Given the description of an element on the screen output the (x, y) to click on. 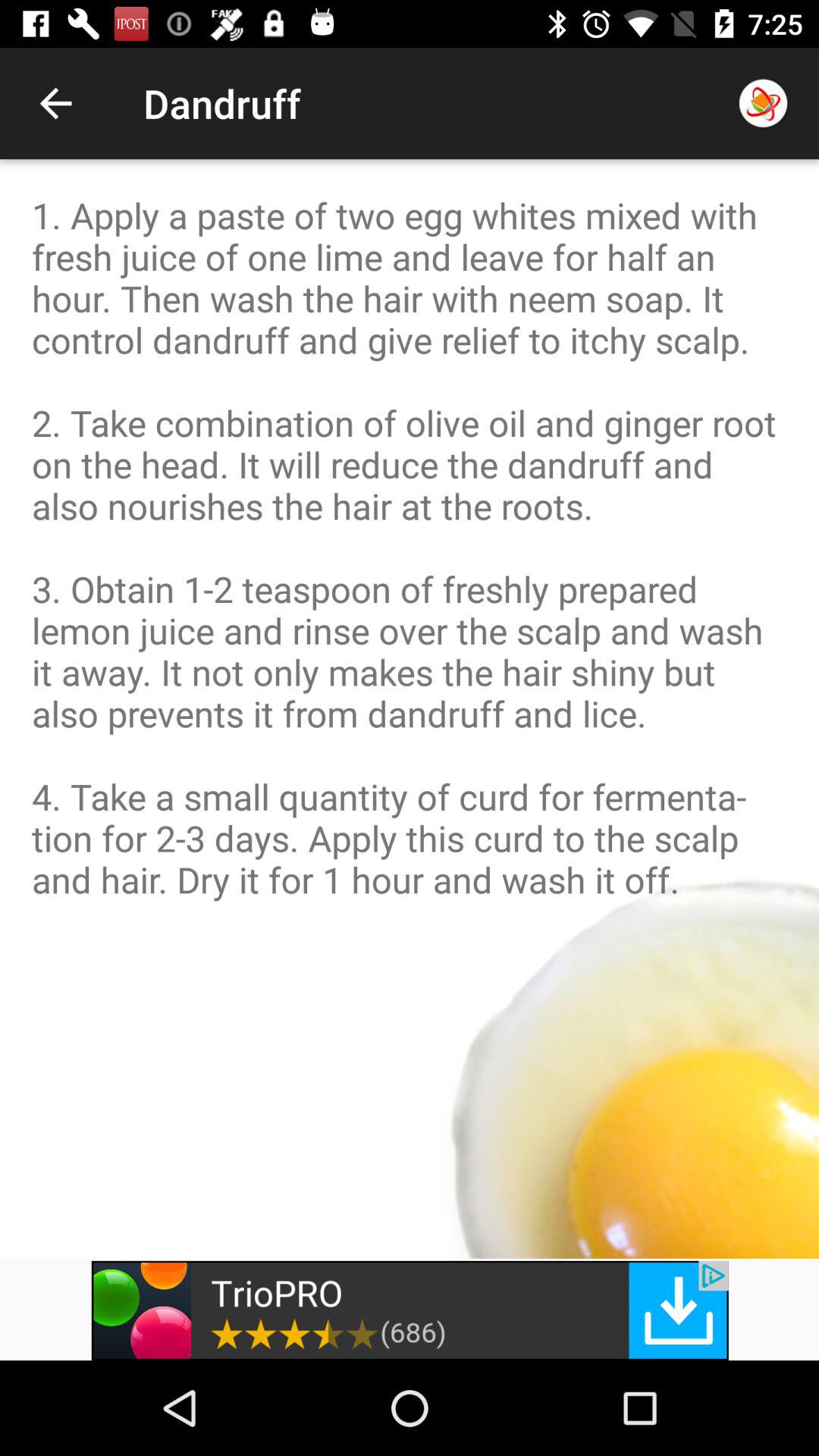
select the add (409, 1310)
